Given the description of an element on the screen output the (x, y) to click on. 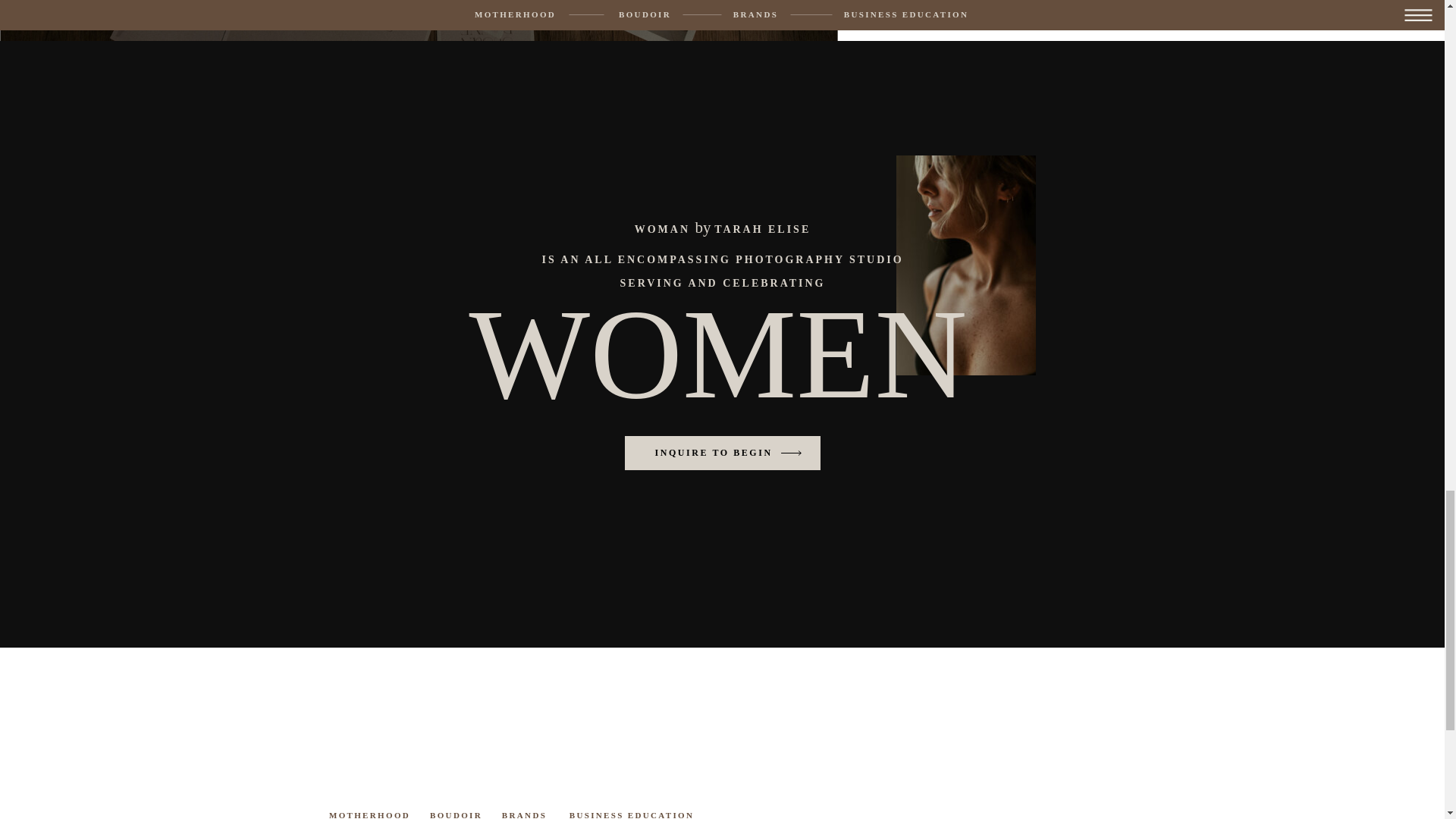
BOUDOIR (456, 814)
BUSINESS EDUCATION (630, 814)
INQUIRE TO BEGIN (716, 452)
MOTHERHOOD (368, 814)
BRANDS (524, 814)
